Given the description of an element on the screen output the (x, y) to click on. 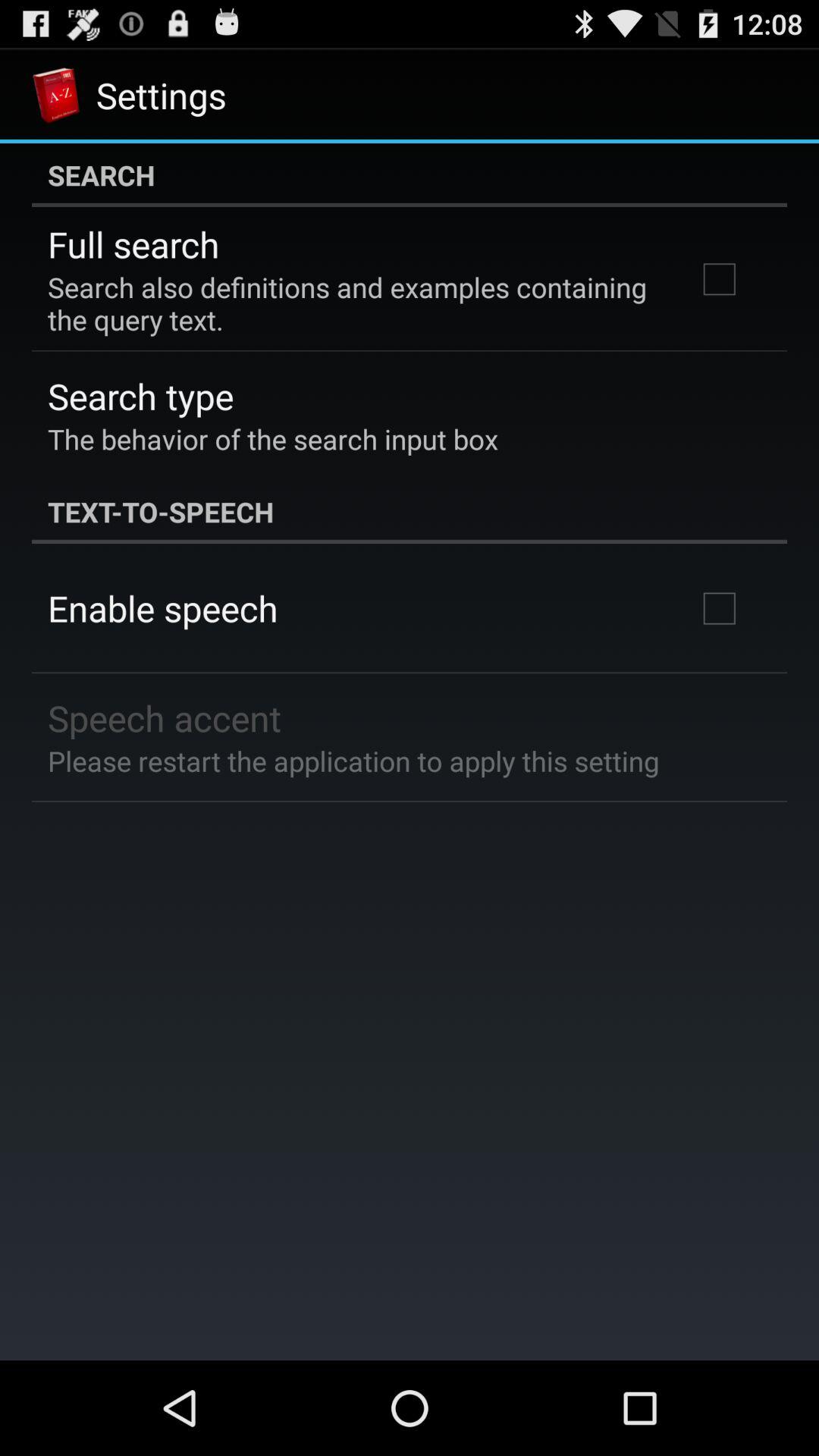
press icon below search app (133, 244)
